Given the description of an element on the screen output the (x, y) to click on. 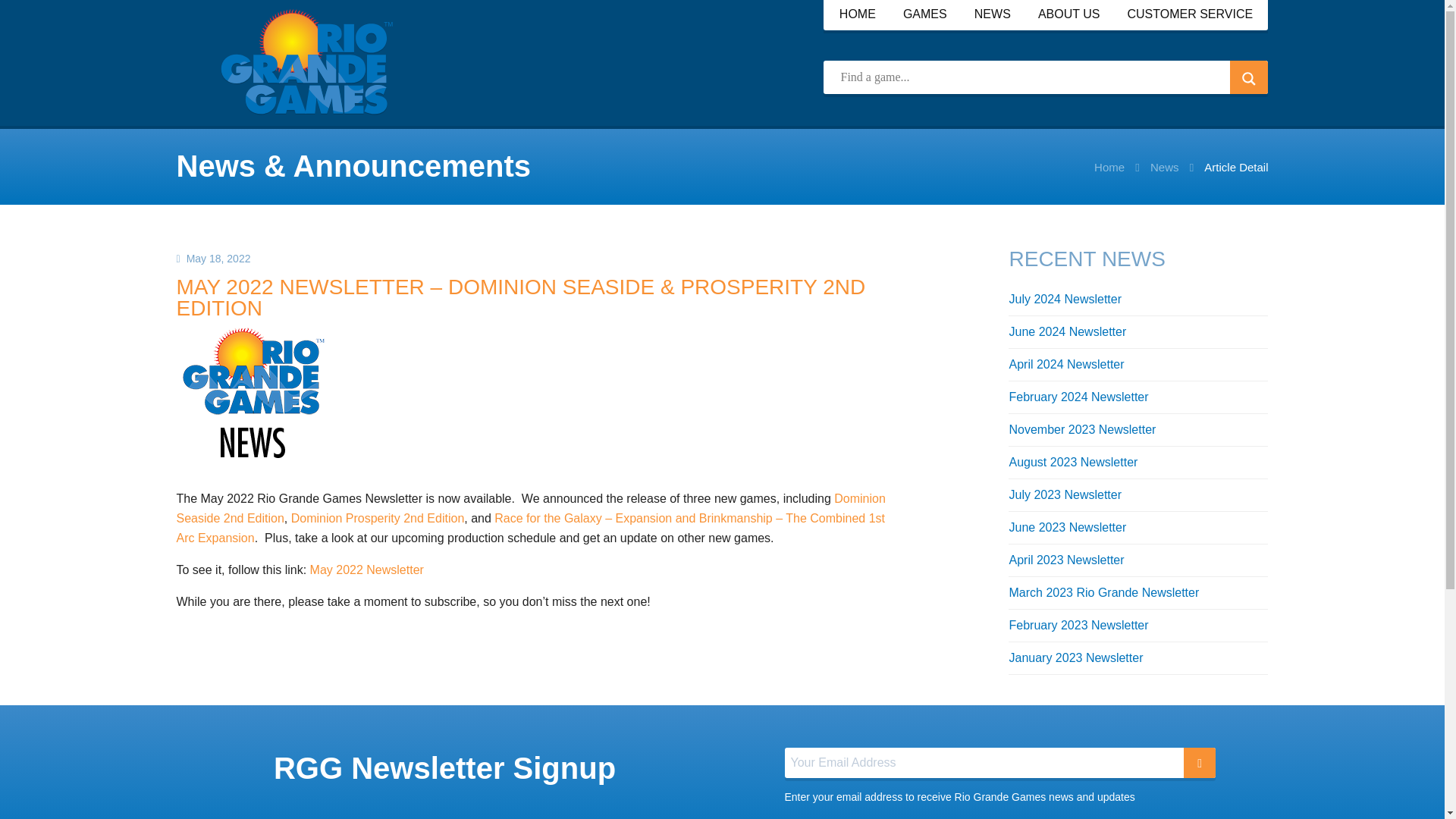
July 2024 Newsletter (1065, 298)
May 2022 Newsletter (366, 569)
August 2023 Newsletter (1073, 461)
July 2023 Newsletter (1065, 494)
June 2024 Newsletter (1067, 331)
Home (1109, 167)
January 2023 Newsletter (1075, 657)
November 2023 Newsletter (1082, 429)
February 2024 Newsletter (1078, 396)
Dominion Prosperity 2nd Edition (377, 517)
April 2023 Newsletter (1066, 559)
March 2023 Rio Grande Newsletter (1103, 592)
CUSTOMER SERVICE (1189, 15)
HOME (858, 15)
News (1164, 167)
